Given the description of an element on the screen output the (x, y) to click on. 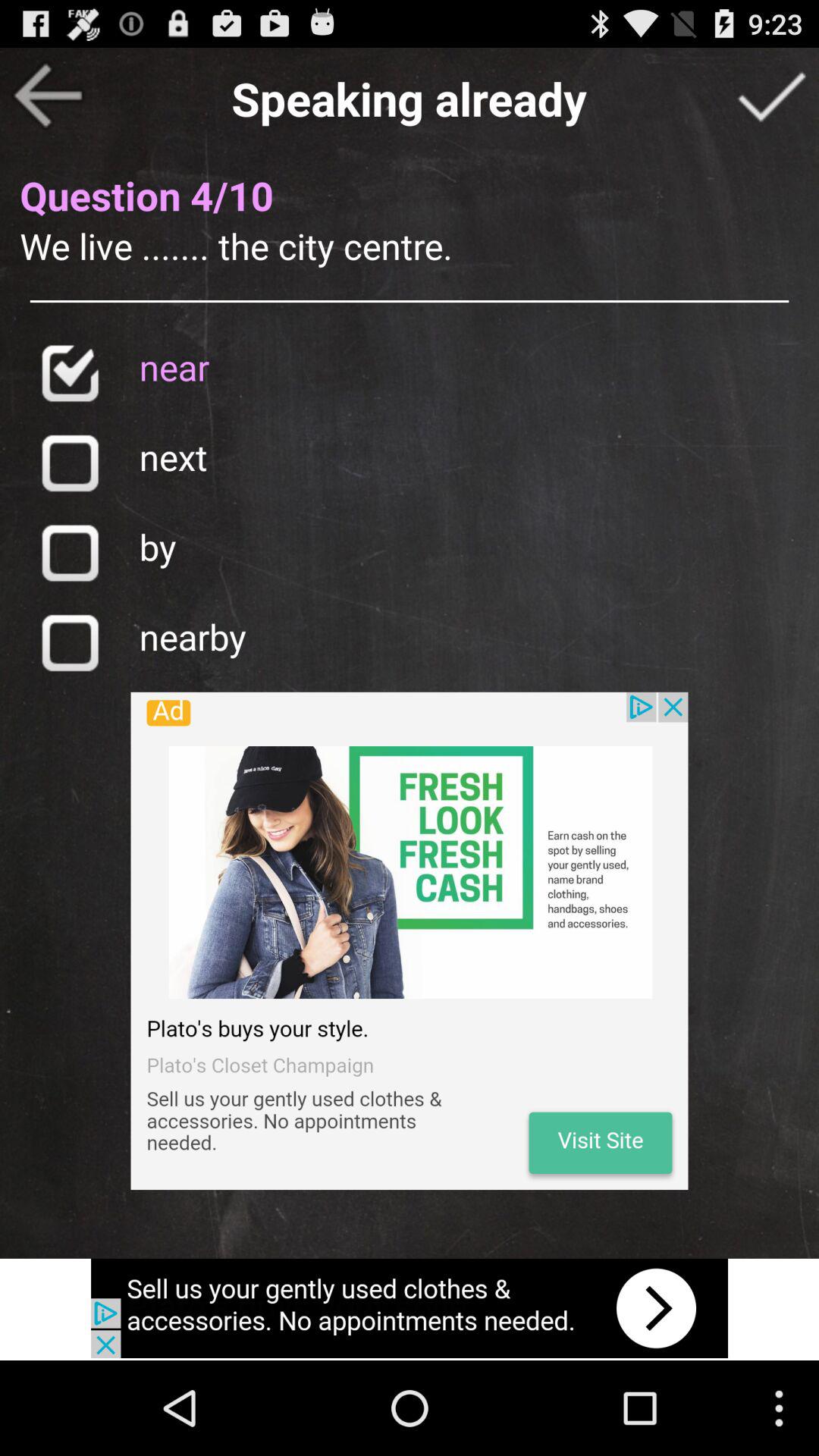
advertisement (409, 940)
